Given the description of an element on the screen output the (x, y) to click on. 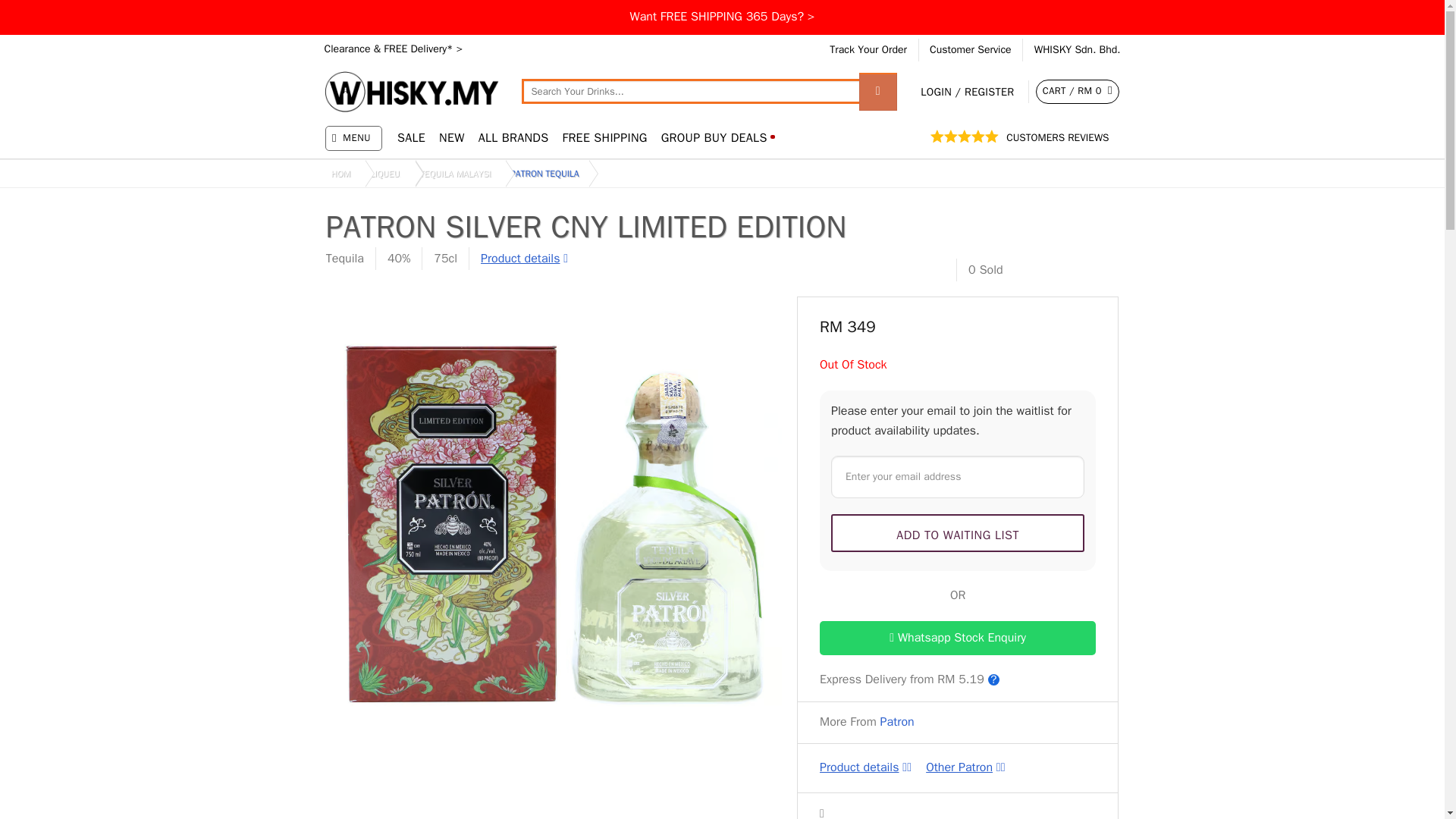
Search (877, 91)
Checkout (1077, 91)
MENU (352, 138)
CUSTOMERS REVIEWS (1057, 137)
Add To Waiting List (957, 533)
Customer Service (970, 50)
ALL BRANDS (513, 137)
Track Your Order (868, 50)
FREE SHIPPING (604, 137)
GROUP BUY DEALS (717, 137)
